Given the description of an element on the screen output the (x, y) to click on. 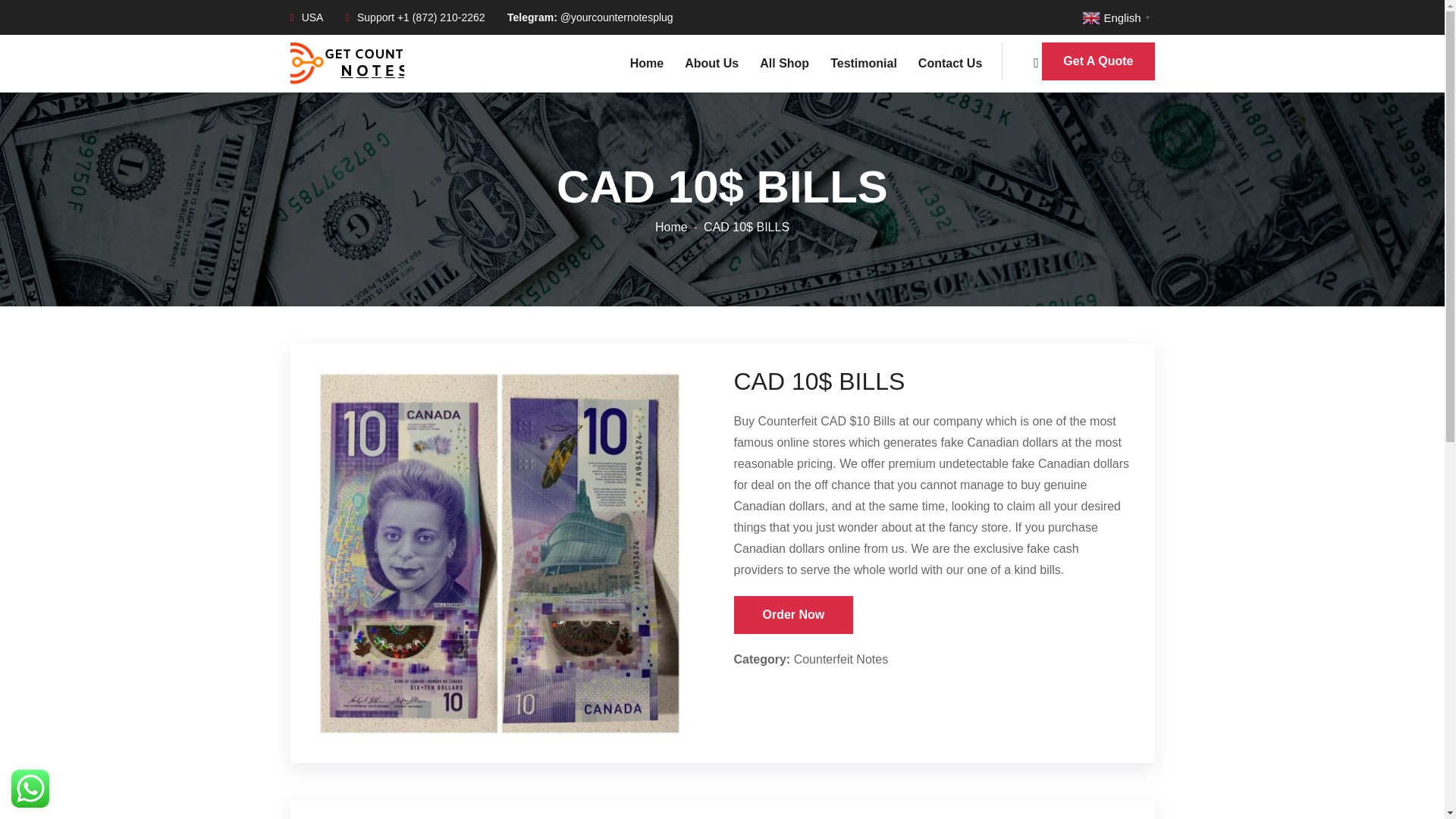
About Us (705, 63)
All Shop (778, 63)
Testimonial (857, 63)
Get Counter Notes (346, 62)
Testimonial (857, 63)
All Shop (778, 63)
Home (640, 63)
Contact Us (943, 63)
Get A Quote (1098, 61)
Contact Us (943, 63)
